Given the description of an element on the screen output the (x, y) to click on. 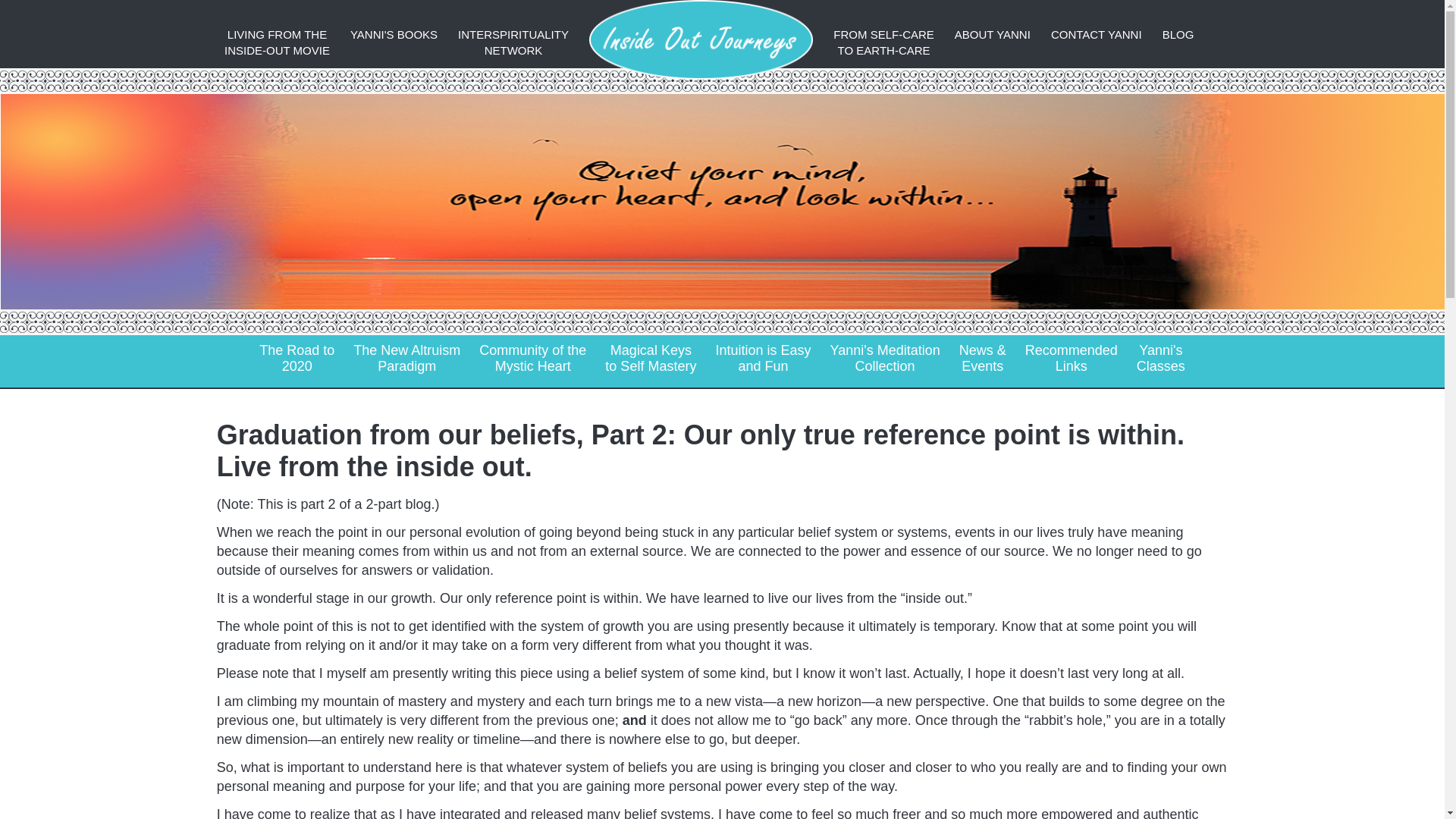
ABOUT YANNI (1160, 358)
YANNI'S BOOKS (992, 33)
CONTACT YANNI (762, 358)
BLOG (1071, 358)
